Given the description of an element on the screen output the (x, y) to click on. 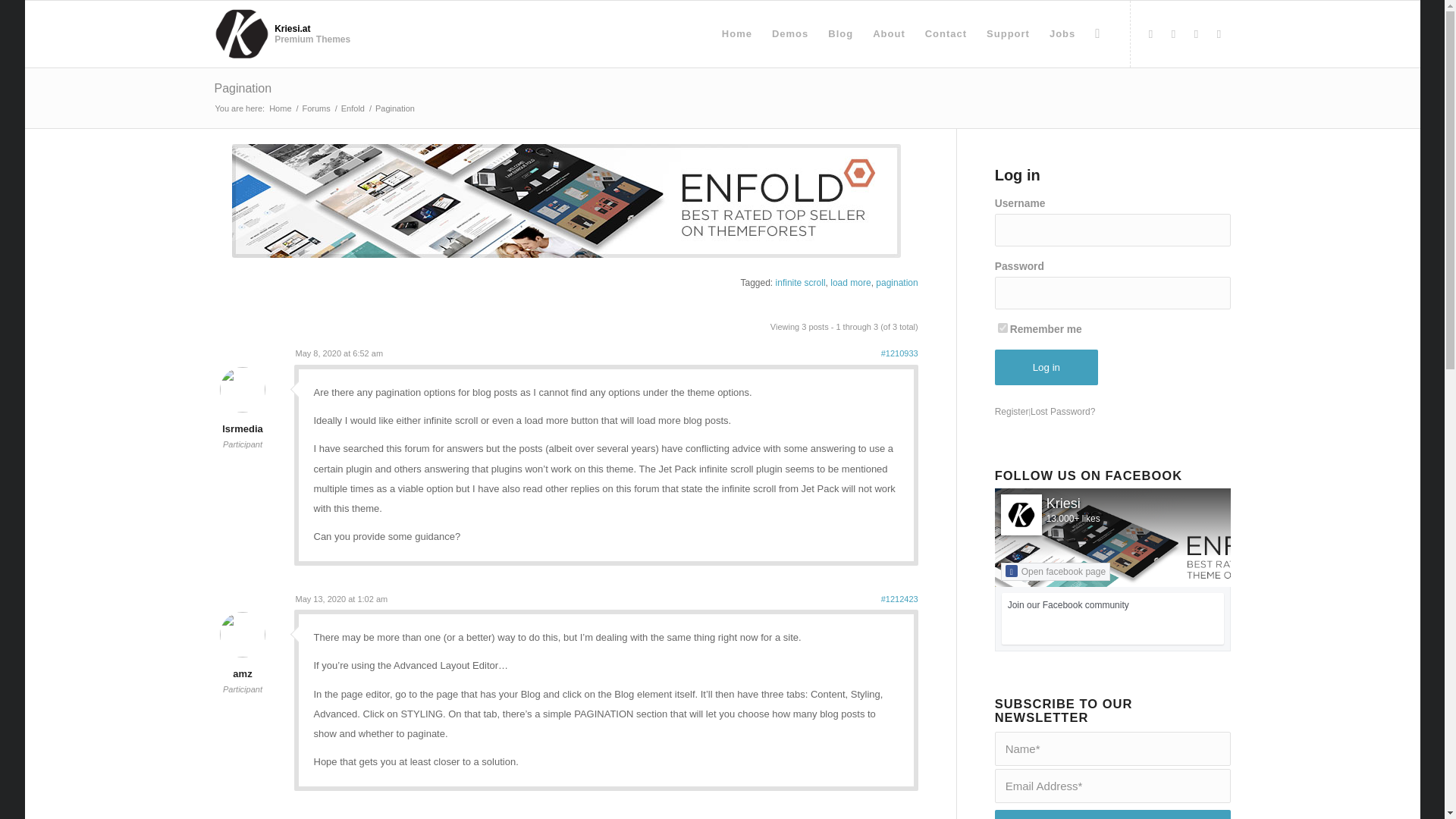
Kriesi (1063, 503)
Mail (1218, 33)
View lsrmedia's profile (241, 418)
amz (241, 663)
Enfold (352, 108)
Home (280, 108)
Participant (242, 443)
Facebook (1149, 33)
Subscribe (1112, 814)
Kriesi (1063, 503)
